Given the description of an element on the screen output the (x, y) to click on. 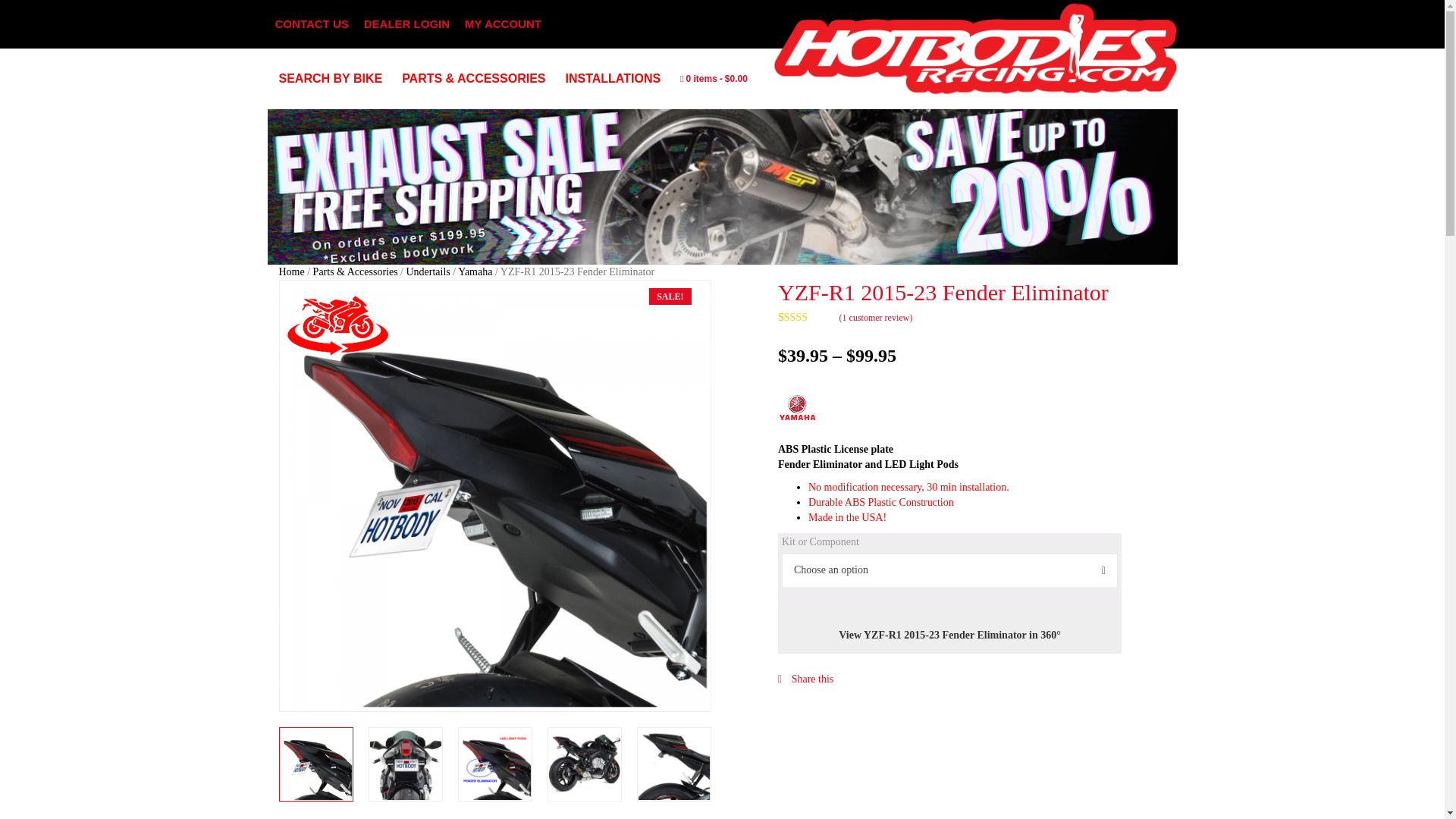
MY ACCOUNT (502, 24)
SEARCH BY BIKE (336, 78)
Rated 4.00 out of 5 (806, 317)
CONTACT US (310, 24)
DEALER LOGIN (406, 24)
Start shopping (713, 78)
